Given the description of an element on the screen output the (x, y) to click on. 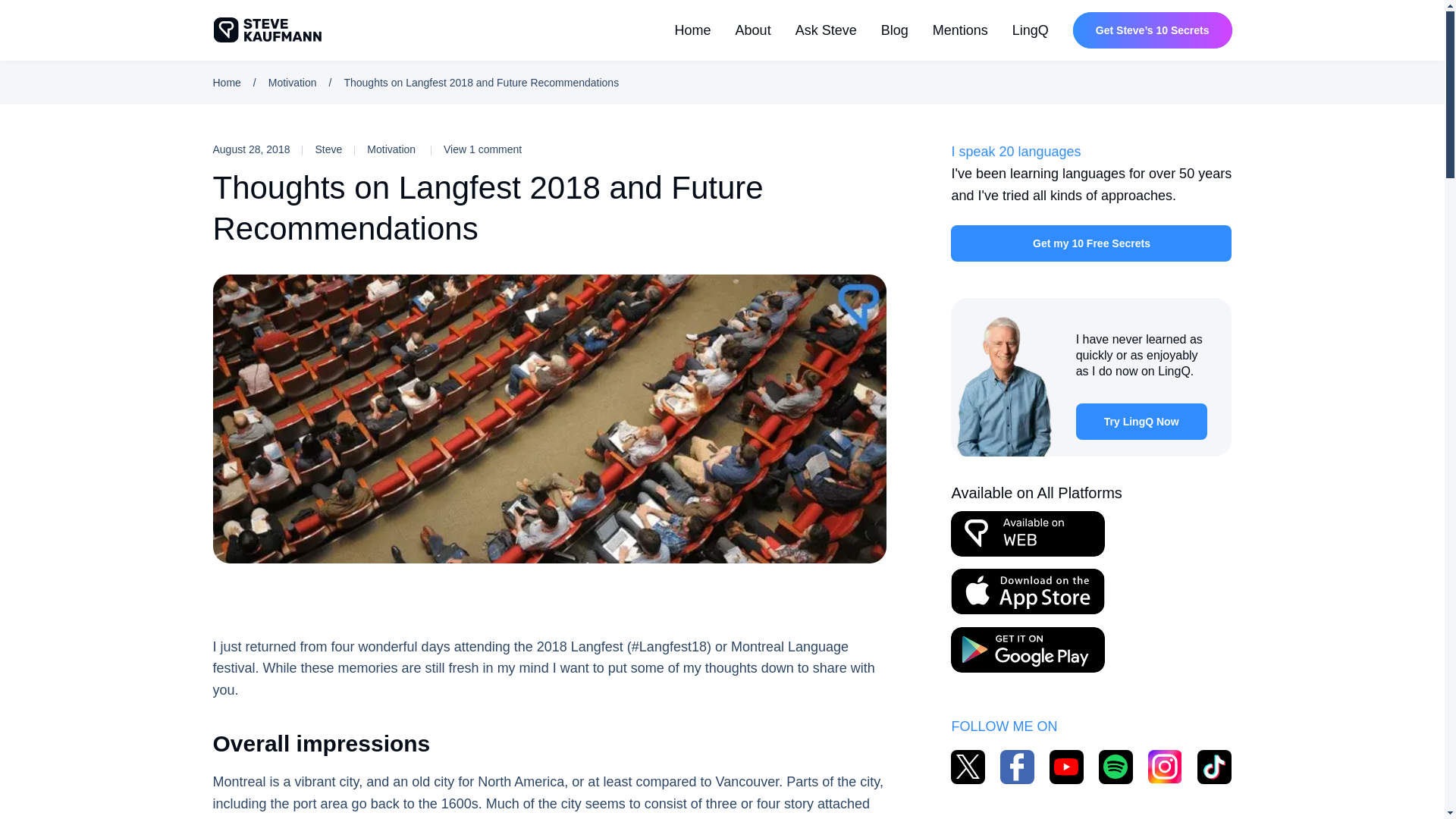
Listen to Steve Kaufmann on Facebook (1115, 766)
Try LingQ Now (1141, 421)
Try LingQ Now (1141, 421)
Home (226, 82)
Get my 10 Free Secrets (1090, 243)
Watch Steve Kaufmann on YouTube (1066, 766)
Motivation (292, 82)
Ask Steve (825, 30)
Motivation posts (398, 149)
Follow Steve Kaufmann on Facebook (1016, 766)
Motivation (398, 149)
Mentions (960, 30)
View 1 comment (482, 149)
Follow Steve Kaufmann on X (967, 766)
Follow Steve Kaufmann on TikTok (1213, 766)
